Given the description of an element on the screen output the (x, y) to click on. 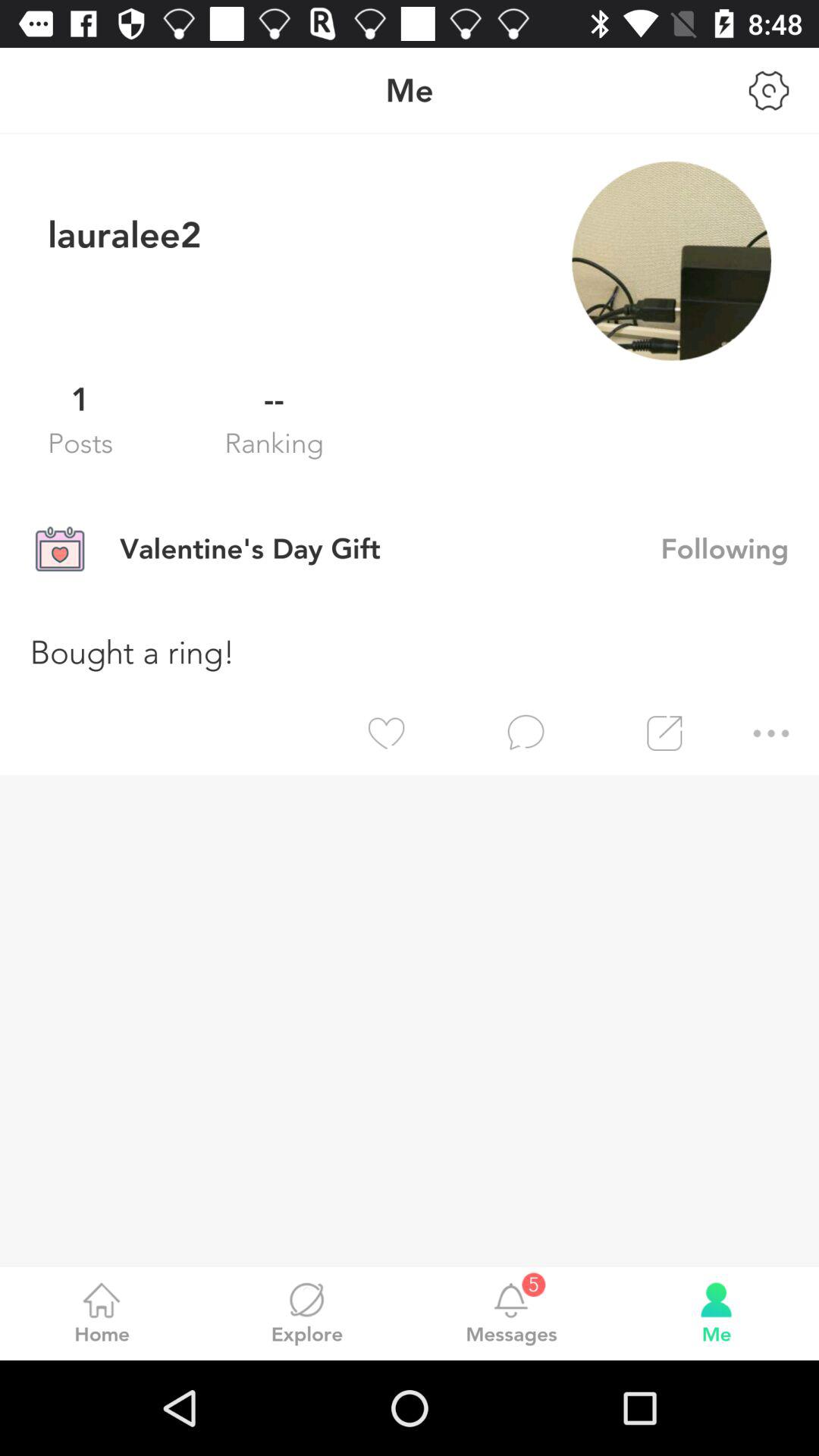
flip until the following app (739, 548)
